Given the description of an element on the screen output the (x, y) to click on. 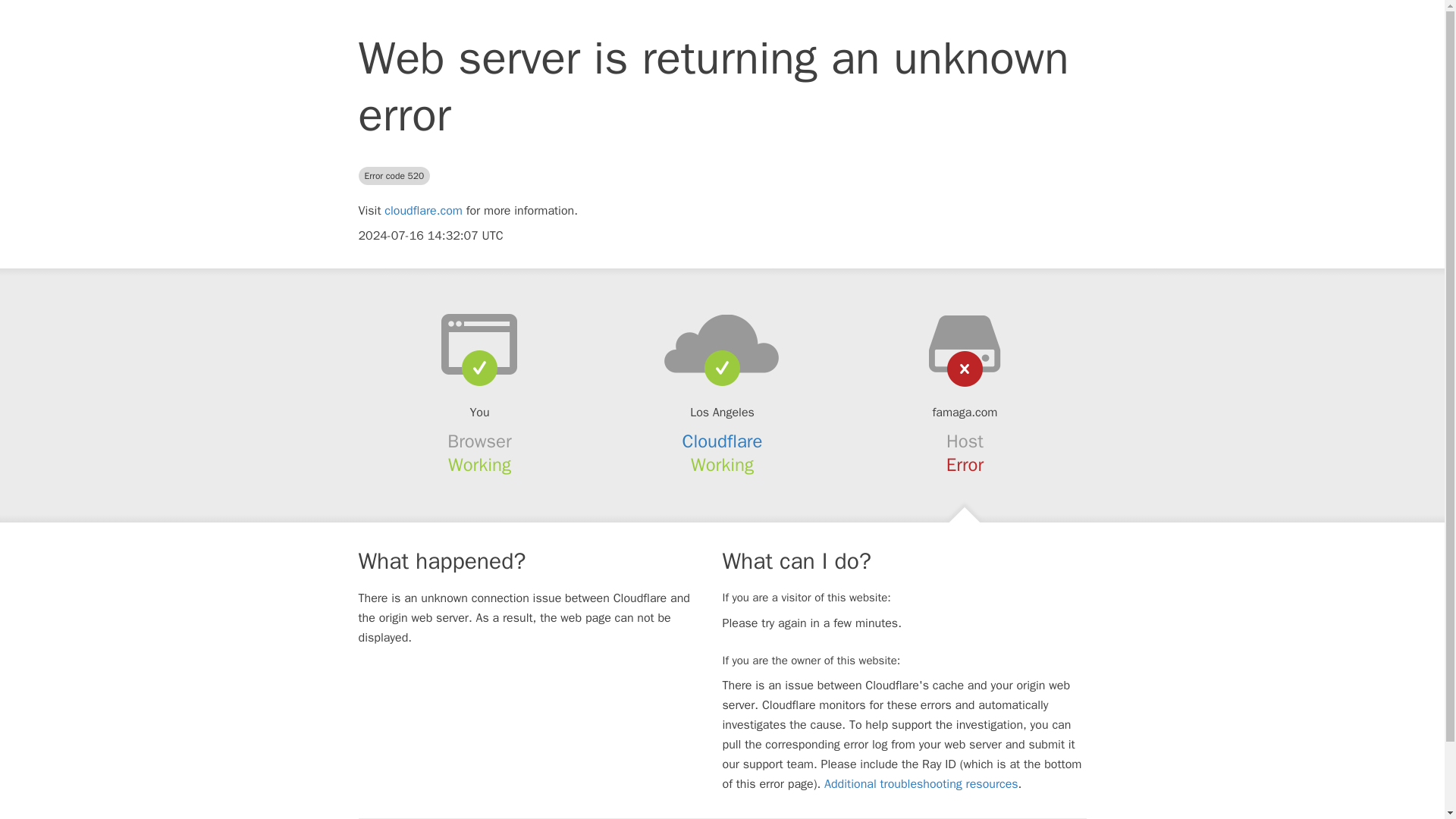
cloudflare.com (423, 210)
Additional troubleshooting resources (920, 783)
Cloudflare (722, 440)
